Given the description of an element on the screen output the (x, y) to click on. 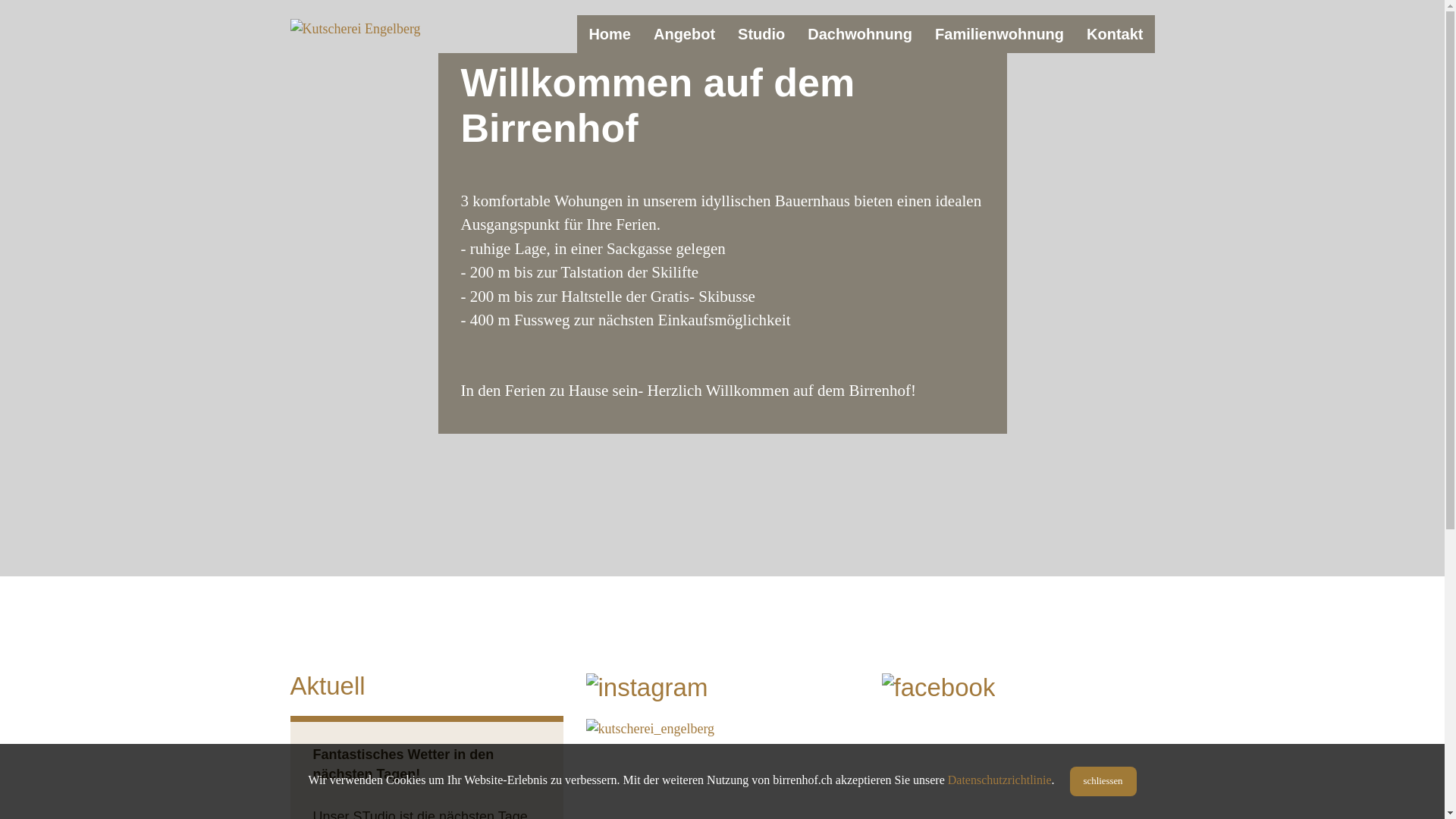
Studio Element type: text (761, 34)
Home Element type: text (609, 34)
Datenschutzrichtlinie Element type: text (999, 779)
Home Element type: hover (384, 27)
schliessen Element type: text (1103, 781)
Angebot Element type: text (684, 34)
Dachwohnung Element type: text (859, 34)
Familienwohnung Element type: text (999, 34)
Kontakt Element type: text (1114, 34)
